Given the description of an element on the screen output the (x, y) to click on. 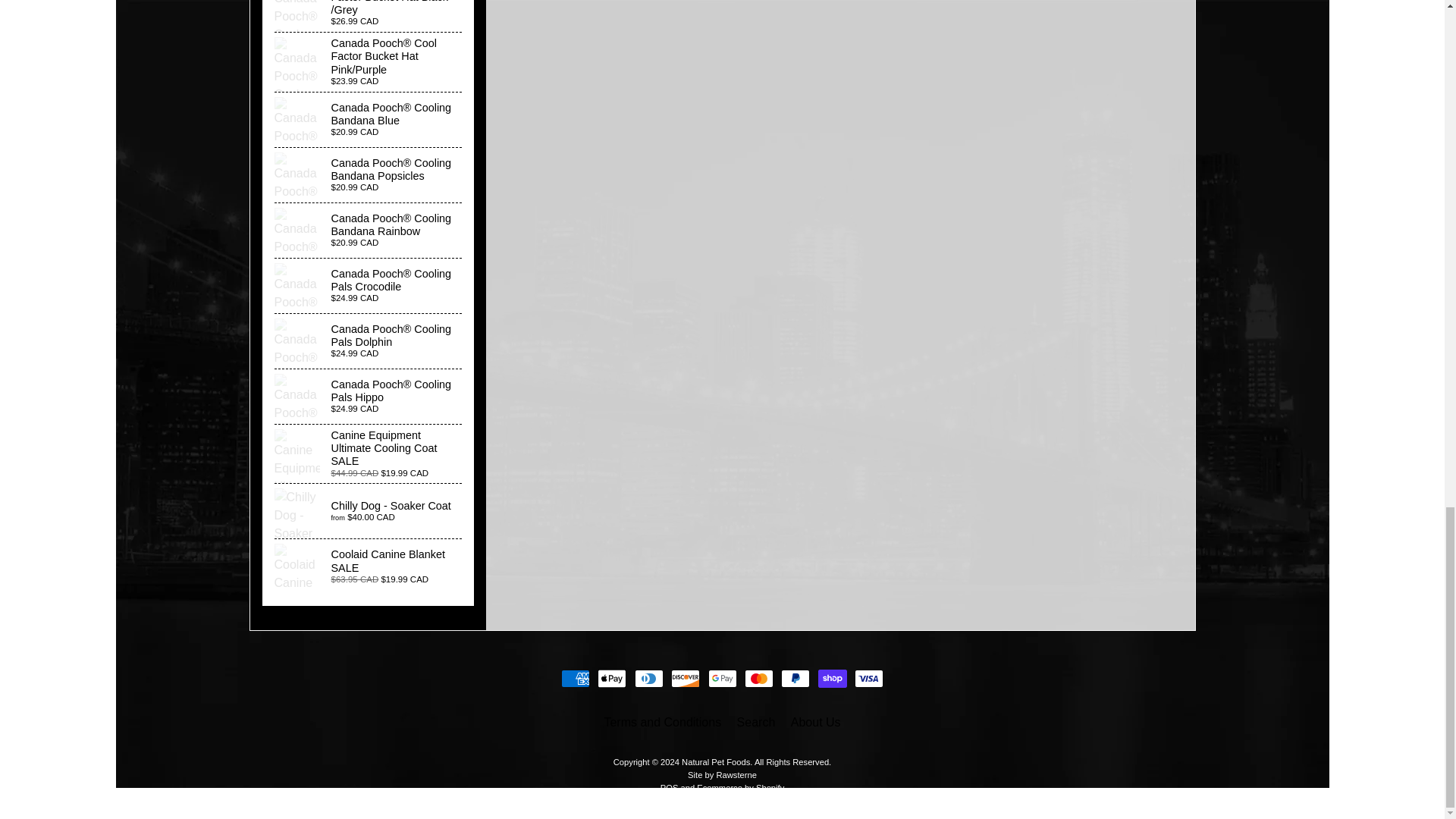
Apple Pay (611, 678)
Visa (868, 678)
PayPal (794, 678)
Diners Club (648, 678)
Mastercard (758, 678)
American Express (574, 678)
Google Pay (721, 678)
Shop Pay (832, 678)
Discover (685, 678)
